Given the description of an element on the screen output the (x, y) to click on. 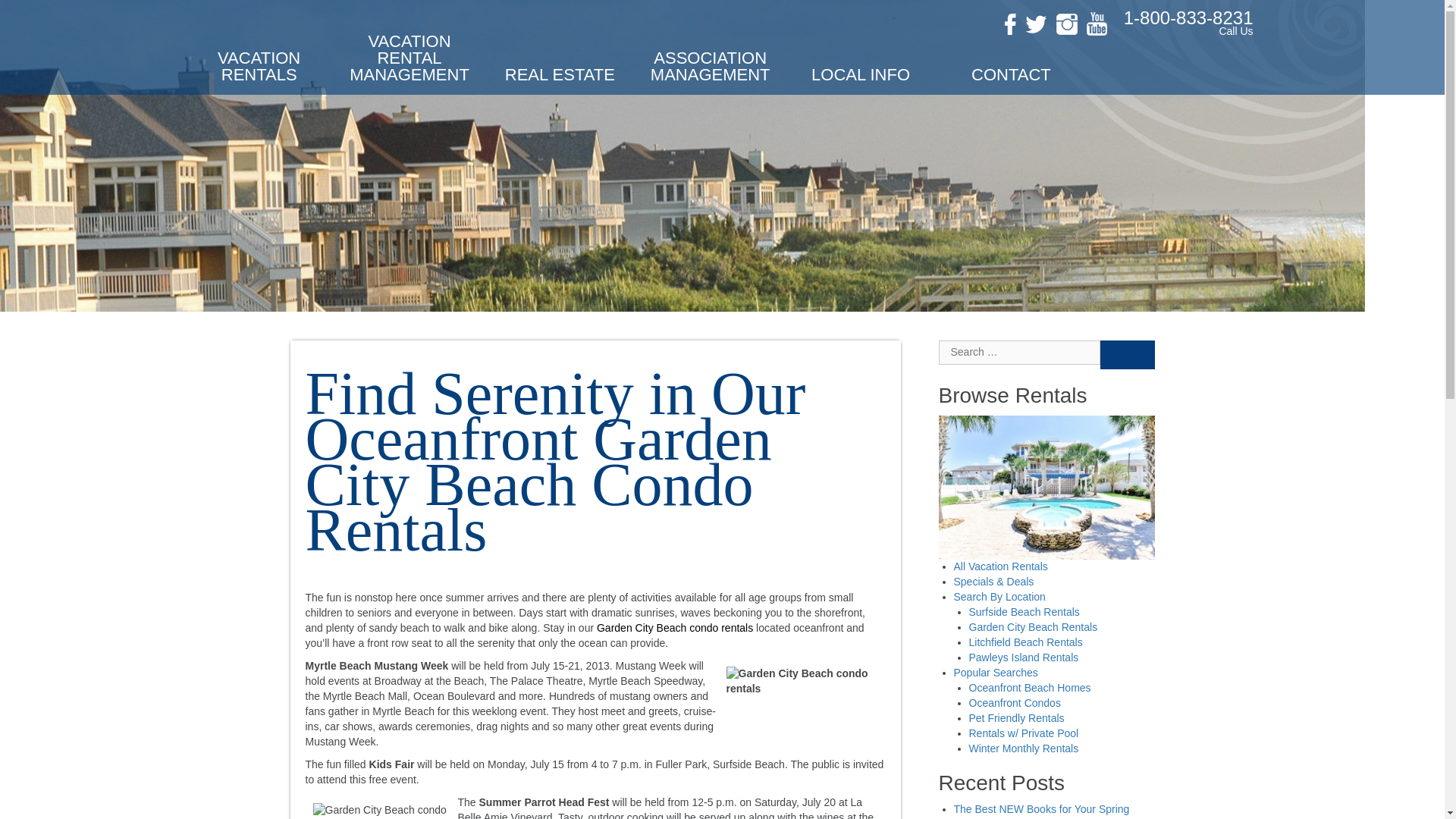
ASSOCIATION MANAGEMENT (710, 72)
REAL ESTATE (559, 80)
VACATION RENTAL MANAGEMENT (409, 64)
VACATION RENTALS (258, 72)
LOCAL INFO (861, 80)
